Given the description of an element on the screen output the (x, y) to click on. 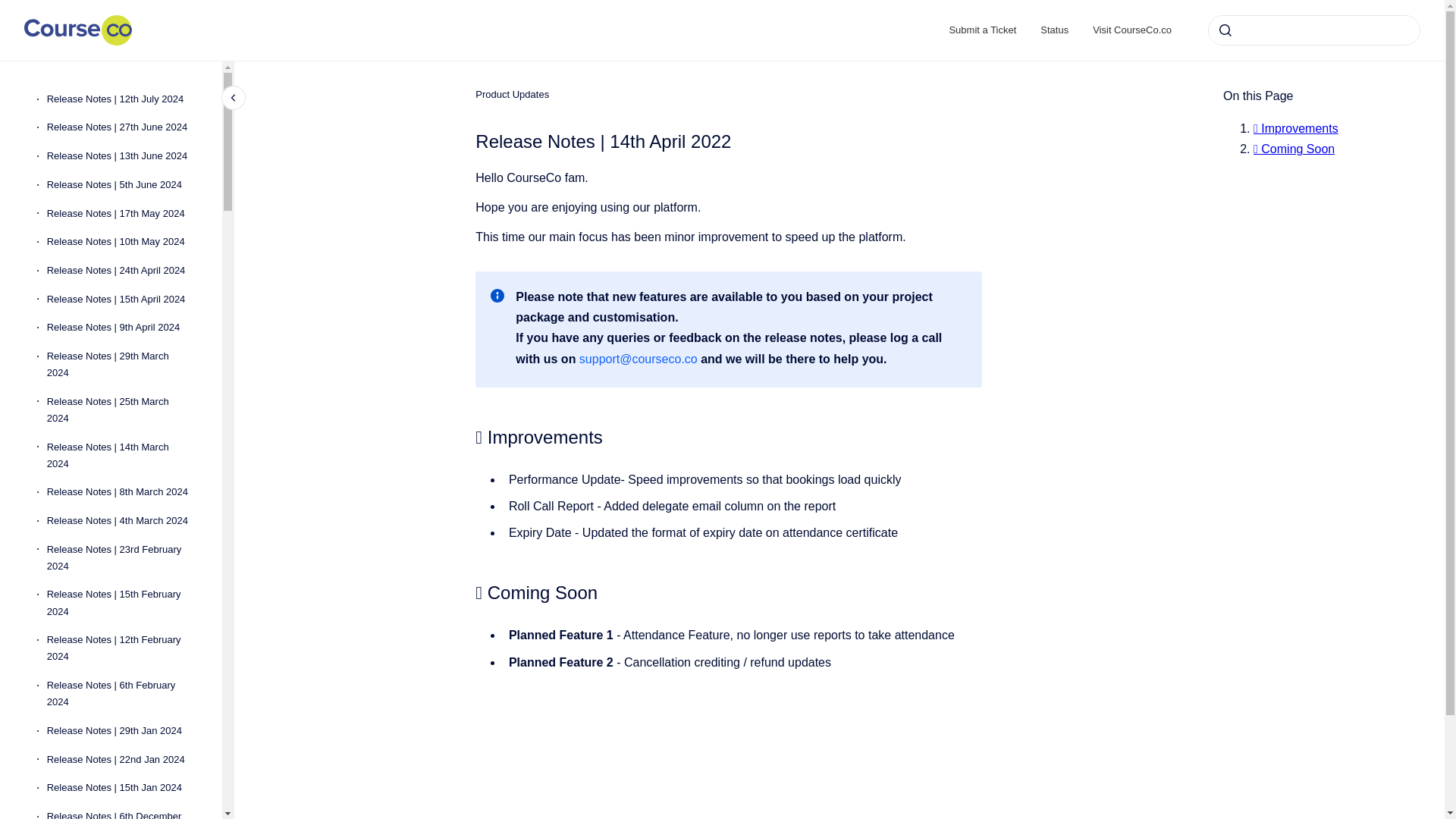
Status (1053, 29)
Go to homepage (78, 30)
Visit CourseCo.co (1131, 29)
Copy to clipboard (468, 435)
Submit a Ticket (981, 29)
Copy to clipboard (468, 590)
